Given the description of an element on the screen output the (x, y) to click on. 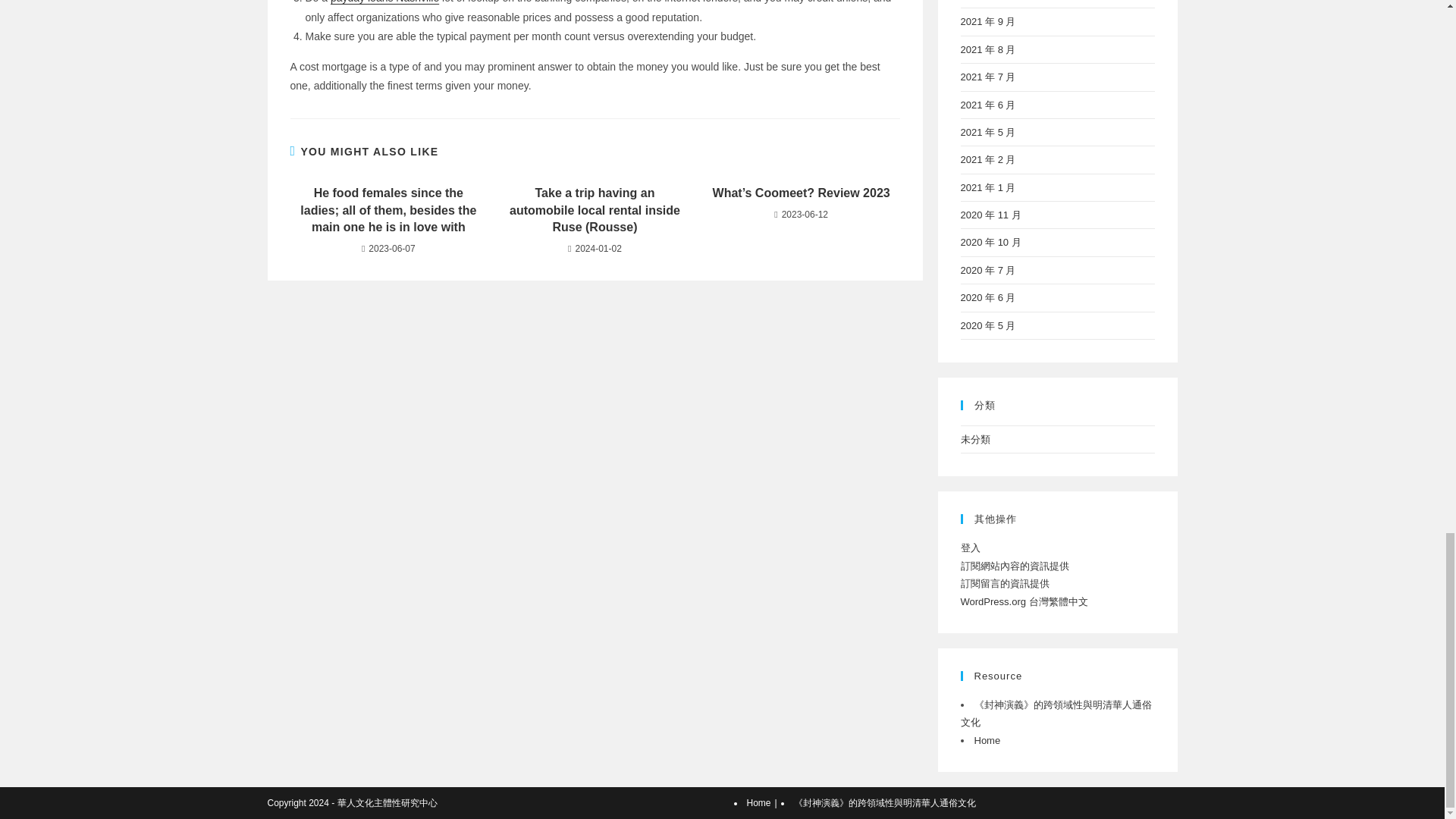
payday loans Nashville (384, 2)
